Given the description of an element on the screen output the (x, y) to click on. 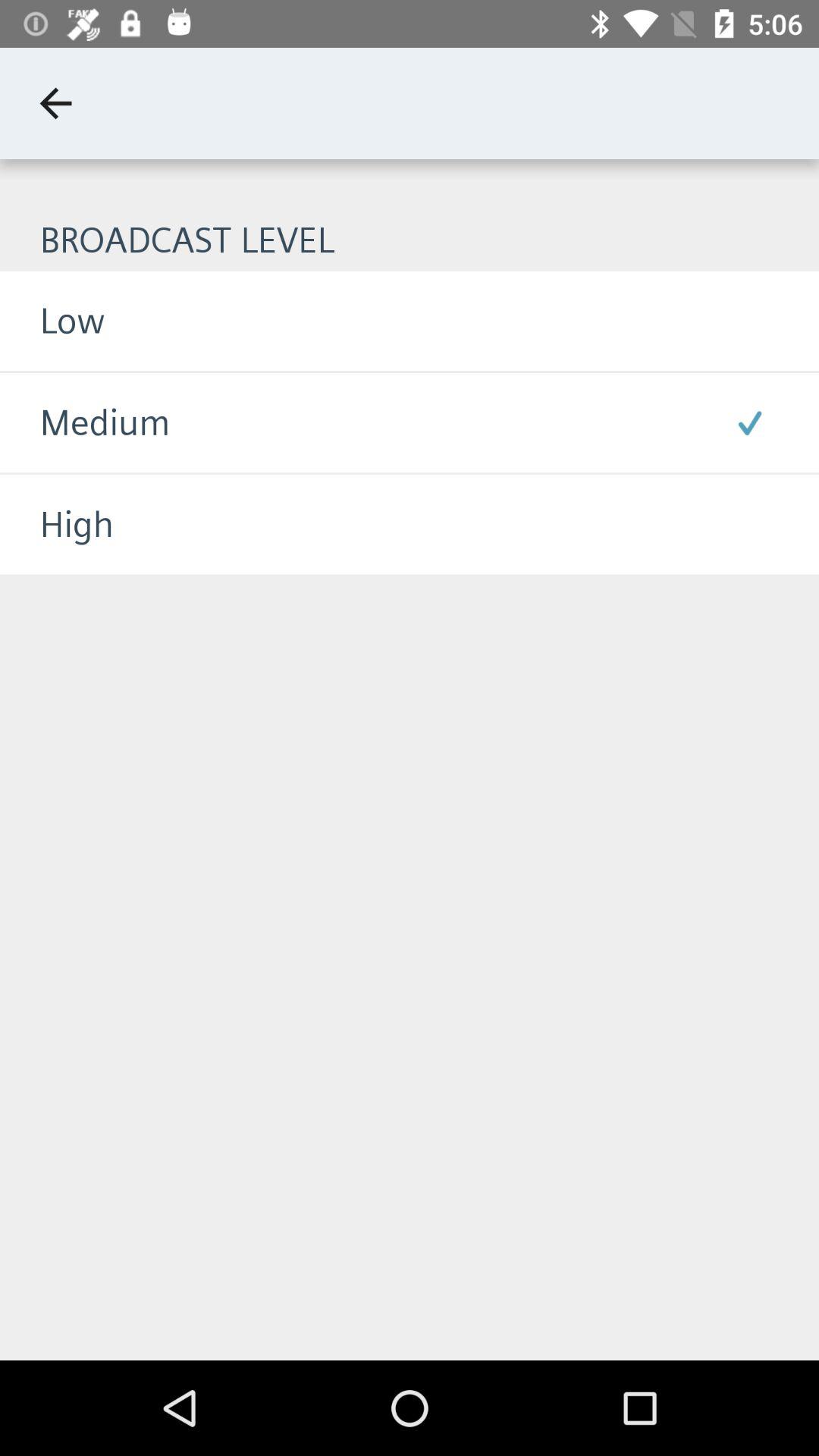
launch the icon below the low item (85, 422)
